Given the description of an element on the screen output the (x, y) to click on. 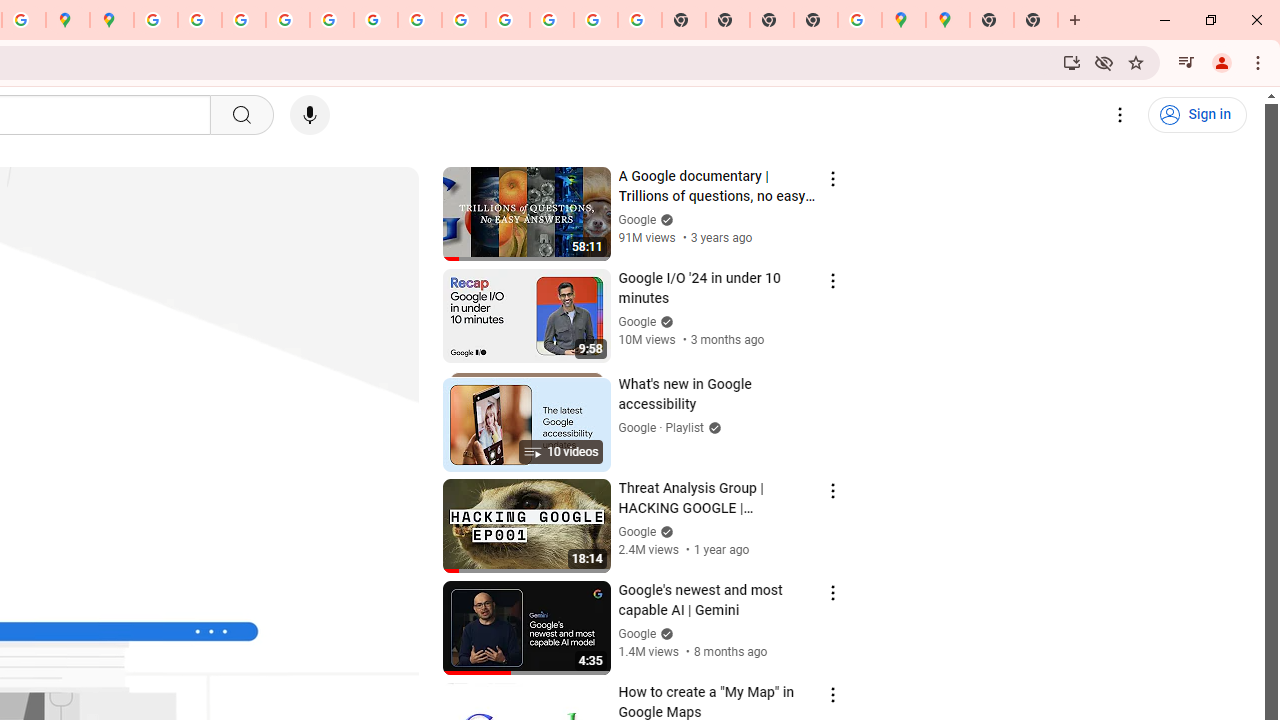
New Tab (1035, 20)
YouTube (419, 20)
New Tab (991, 20)
Privacy Help Center - Policies Help (243, 20)
Action menu (832, 695)
Use Google Maps in Space - Google Maps Help (859, 20)
Search with your voice (309, 115)
